Given the description of an element on the screen output the (x, y) to click on. 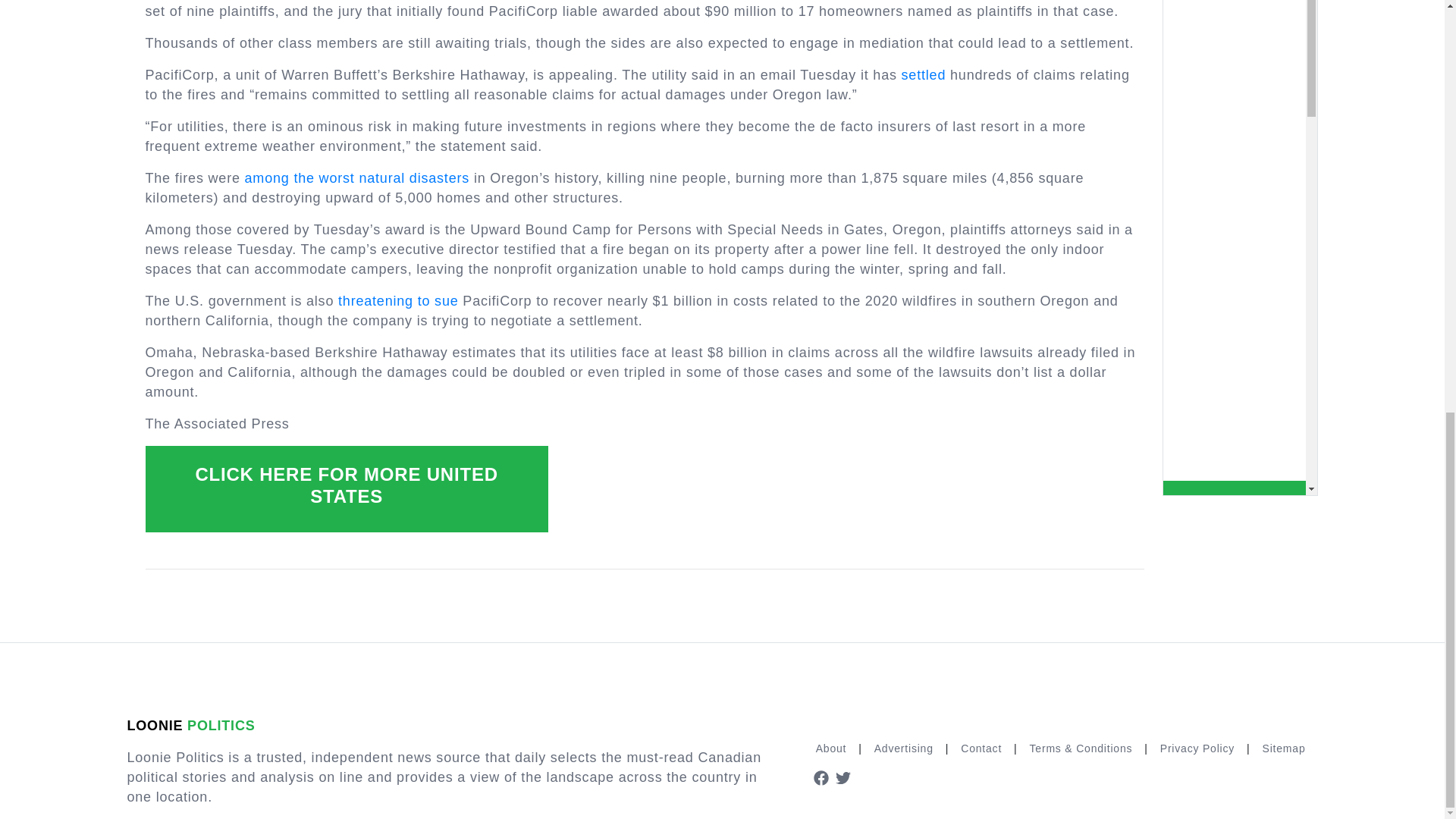
Sitemap (1283, 747)
About (831, 747)
Advertising (902, 747)
threatening to sue (397, 300)
Privacy Policy (1197, 747)
Contact (981, 747)
among the worst natural disasters (357, 177)
settled (923, 74)
